Given the description of an element on the screen output the (x, y) to click on. 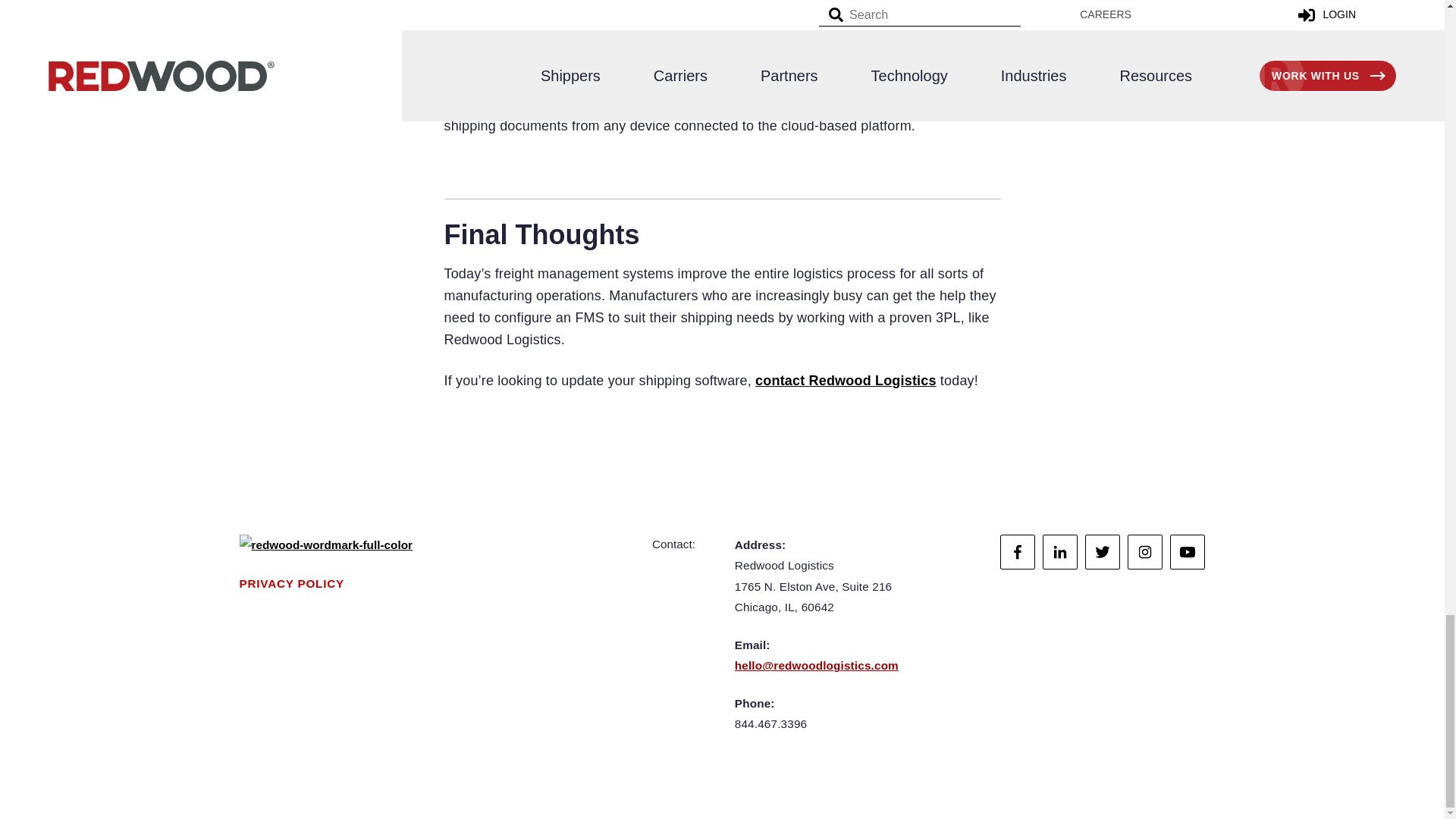
redwood-wordmark-full-color (326, 545)
Linkedin (1059, 551)
Instagram (1143, 551)
Facebook (1017, 551)
YouTube (1187, 551)
Twitter (1101, 551)
